Given the description of an element on the screen output the (x, y) to click on. 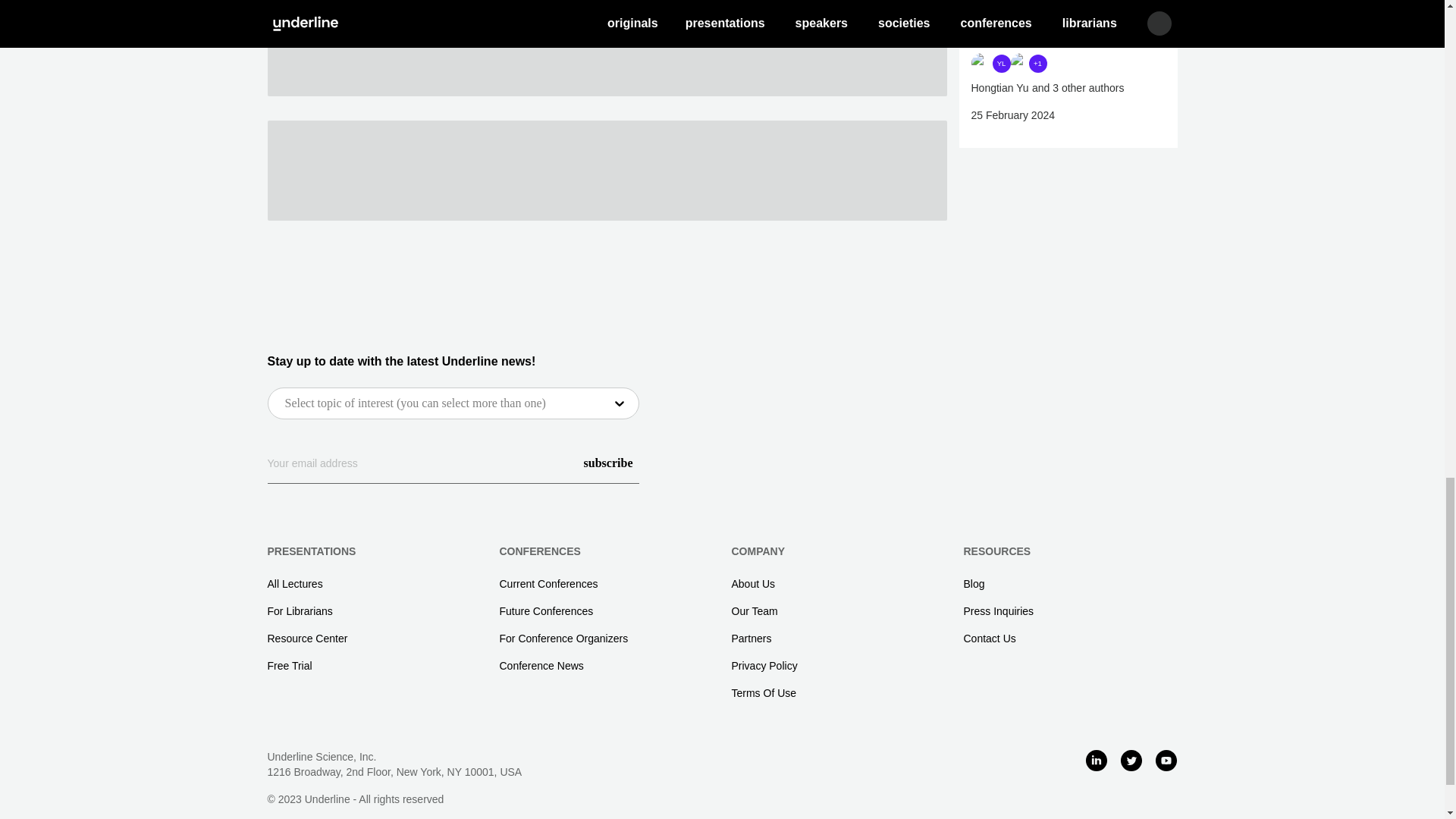
Blog (973, 582)
For Conference Organizers (563, 637)
All Lectures (293, 582)
Our Team (753, 610)
Free Trial (288, 664)
Terms Of Use (763, 692)
Current Conferences (547, 582)
Resource Center (306, 637)
Future Conferences (545, 610)
Privacy Policy (763, 664)
About Us (752, 582)
subscribe (608, 462)
Contact Us (988, 637)
Partners (750, 637)
Press Inquiries (997, 610)
